Given the description of an element on the screen output the (x, y) to click on. 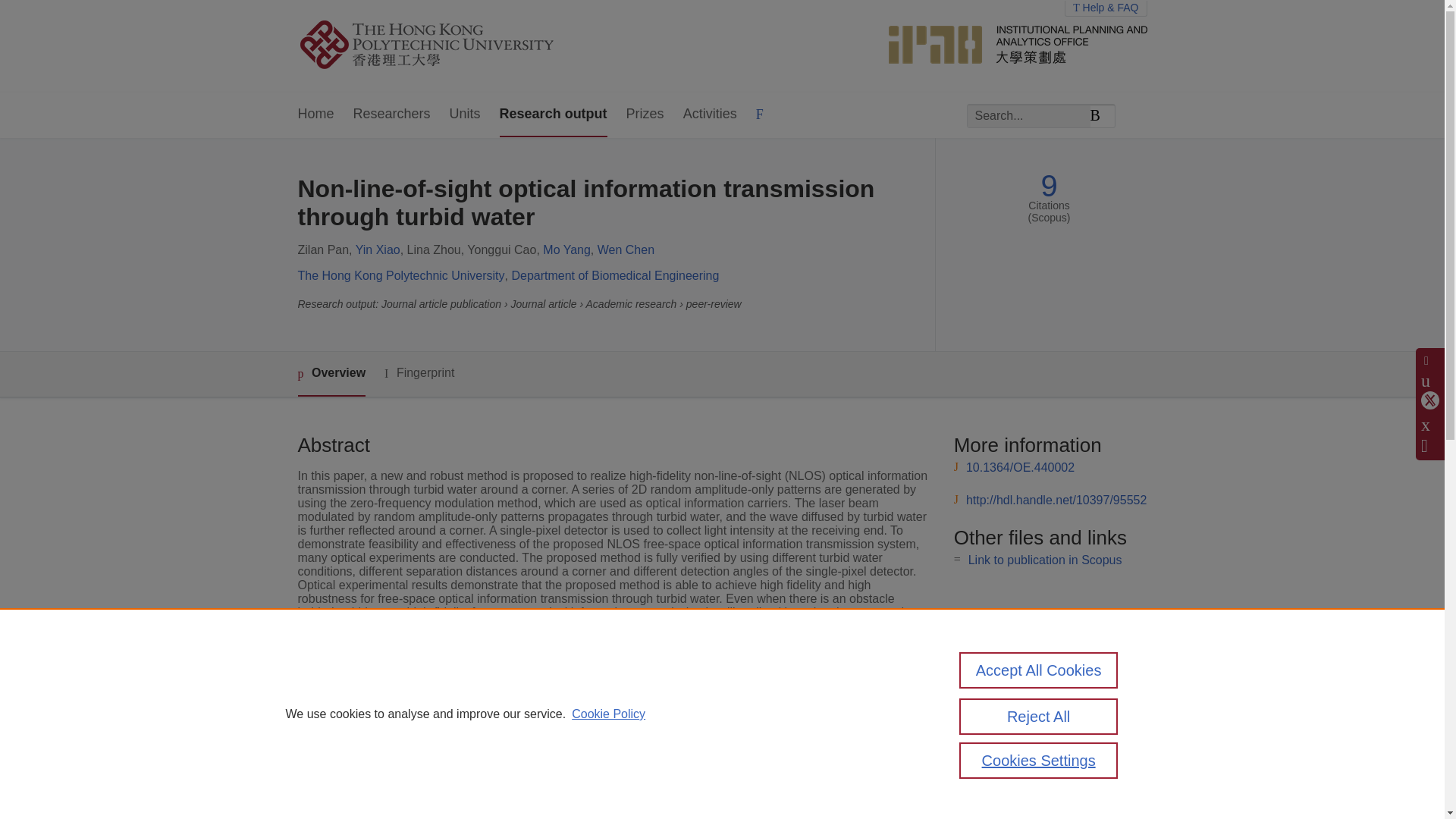
Link to publication in Scopus (1045, 559)
Overview (331, 374)
Activities (709, 114)
Prizes (644, 114)
Department of Biomedical Engineering (615, 275)
Research output (553, 114)
The Hong Kong Polytechnic University (400, 275)
Home (315, 114)
Mo Yang (567, 249)
Fingerprint (419, 373)
Yin Xiao (377, 249)
Researchers (391, 114)
Units (464, 114)
PolyU Scholars Hub Home (444, 46)
